Given the description of an element on the screen output the (x, y) to click on. 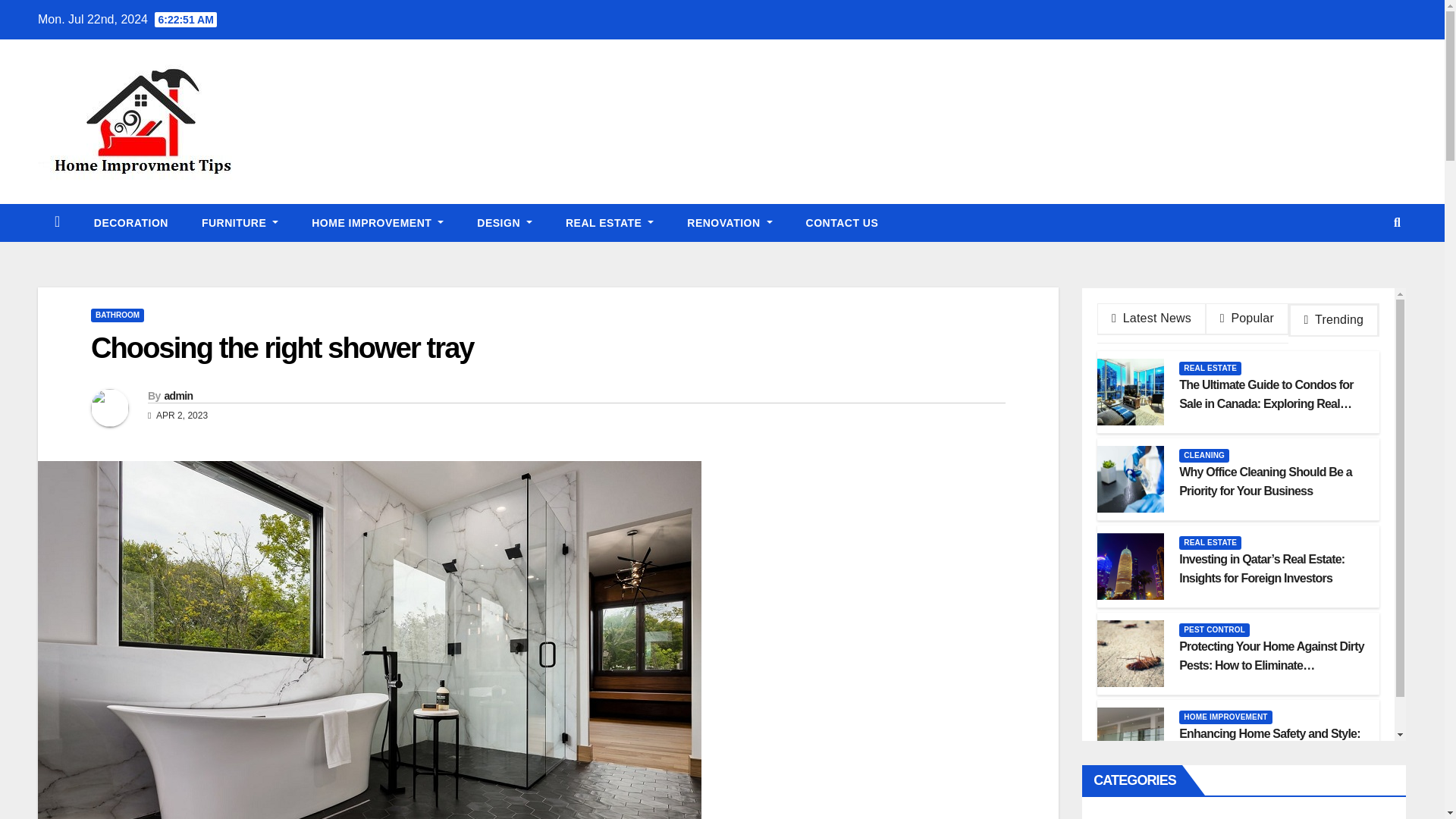
FURNITURE (239, 222)
HOME IMPROVEMENT (377, 222)
CONTACT US (842, 222)
REAL ESTATE (608, 222)
DECORATION (130, 222)
Decoration (130, 222)
Home Improvement (377, 222)
BATHROOM (117, 315)
Choosing the right shower tray (282, 347)
RENOVATION (729, 222)
DESIGN (504, 222)
Furniture (239, 222)
